Given the description of an element on the screen output the (x, y) to click on. 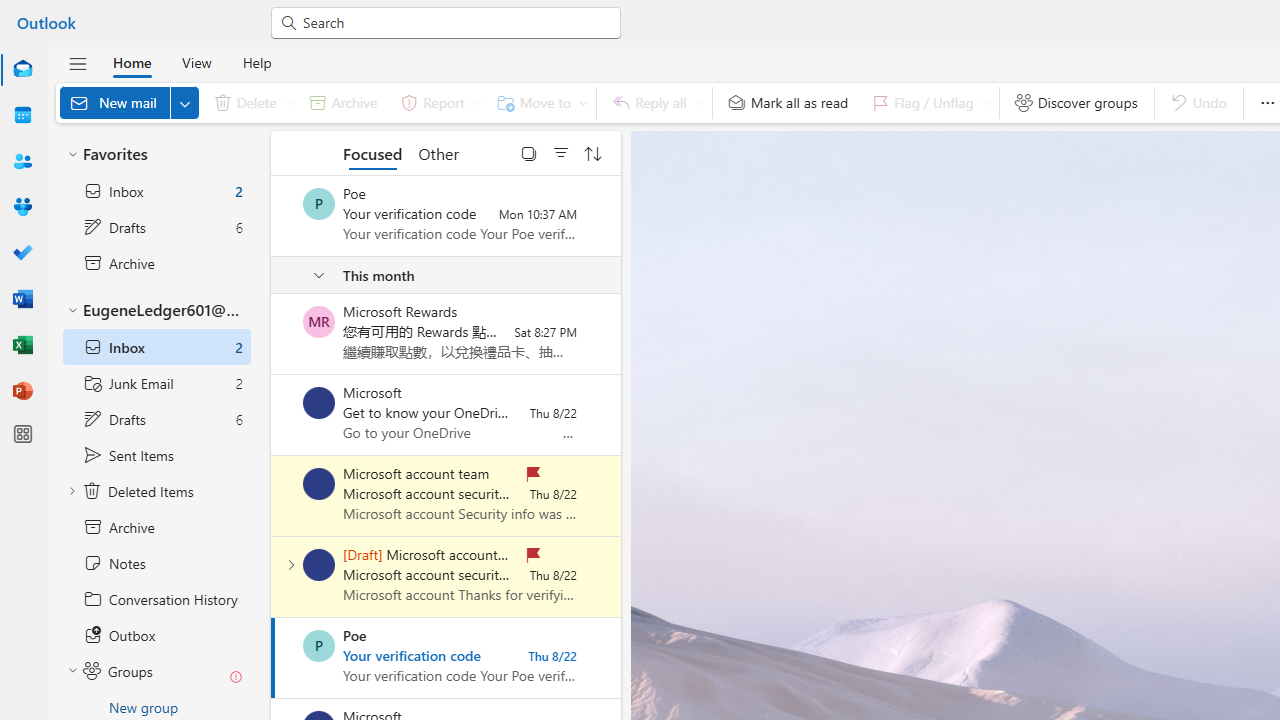
Sorted: By Date (593, 152)
Word (22, 299)
Archive (343, 102)
Move to (538, 102)
Expand to see delete options (289, 102)
Expand to see more New options (184, 102)
New mail (129, 102)
To Do (22, 252)
PowerPoint (22, 390)
Expand to see more respond options (699, 102)
Groups (22, 207)
